Given the description of an element on the screen output the (x, y) to click on. 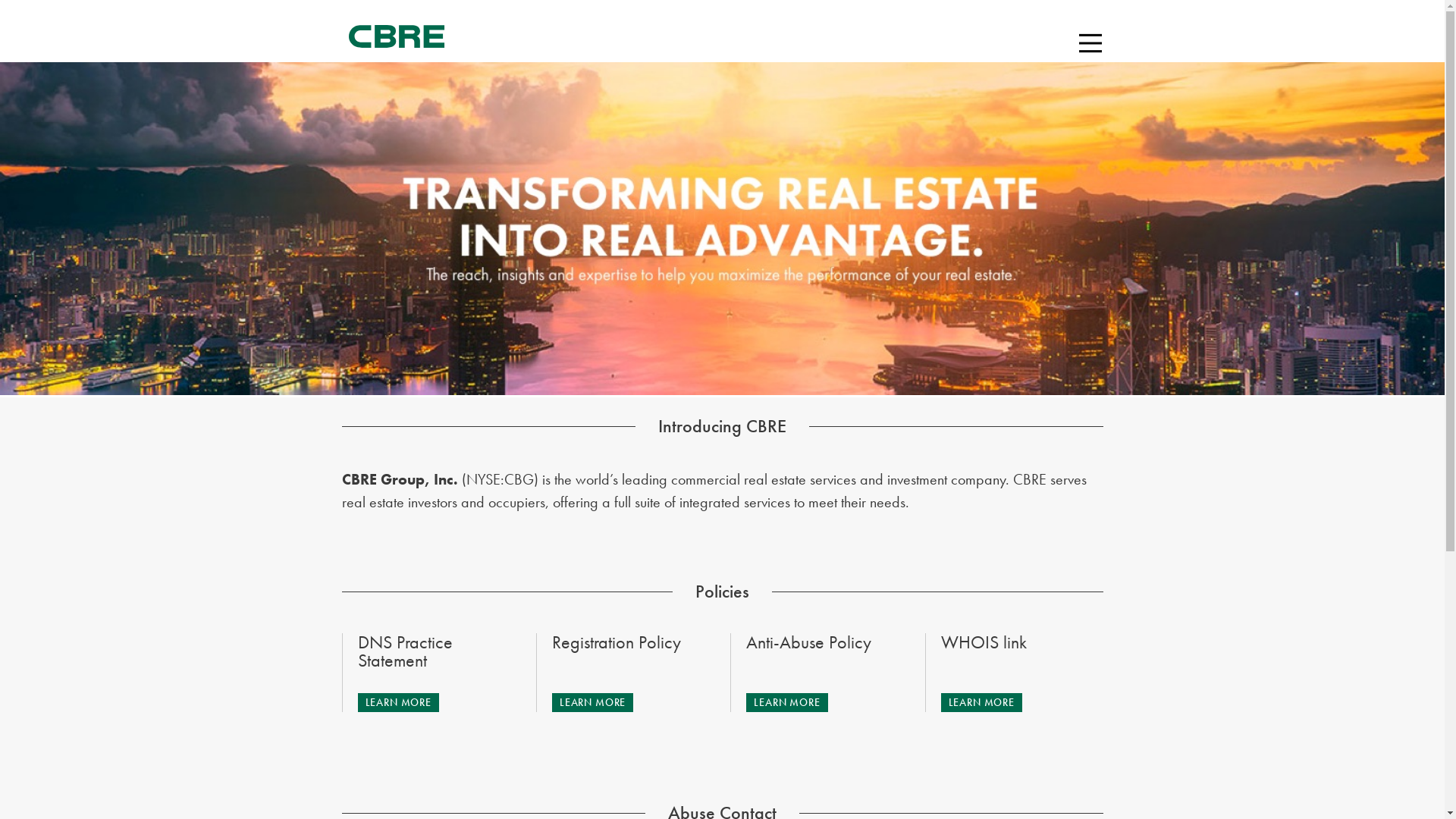
LEARN MORE Element type: text (592, 702)
LEARN MORE Element type: text (398, 702)
LEARN MORE Element type: text (981, 702)
LEARN MORE Element type: text (786, 702)
